Given the description of an element on the screen output the (x, y) to click on. 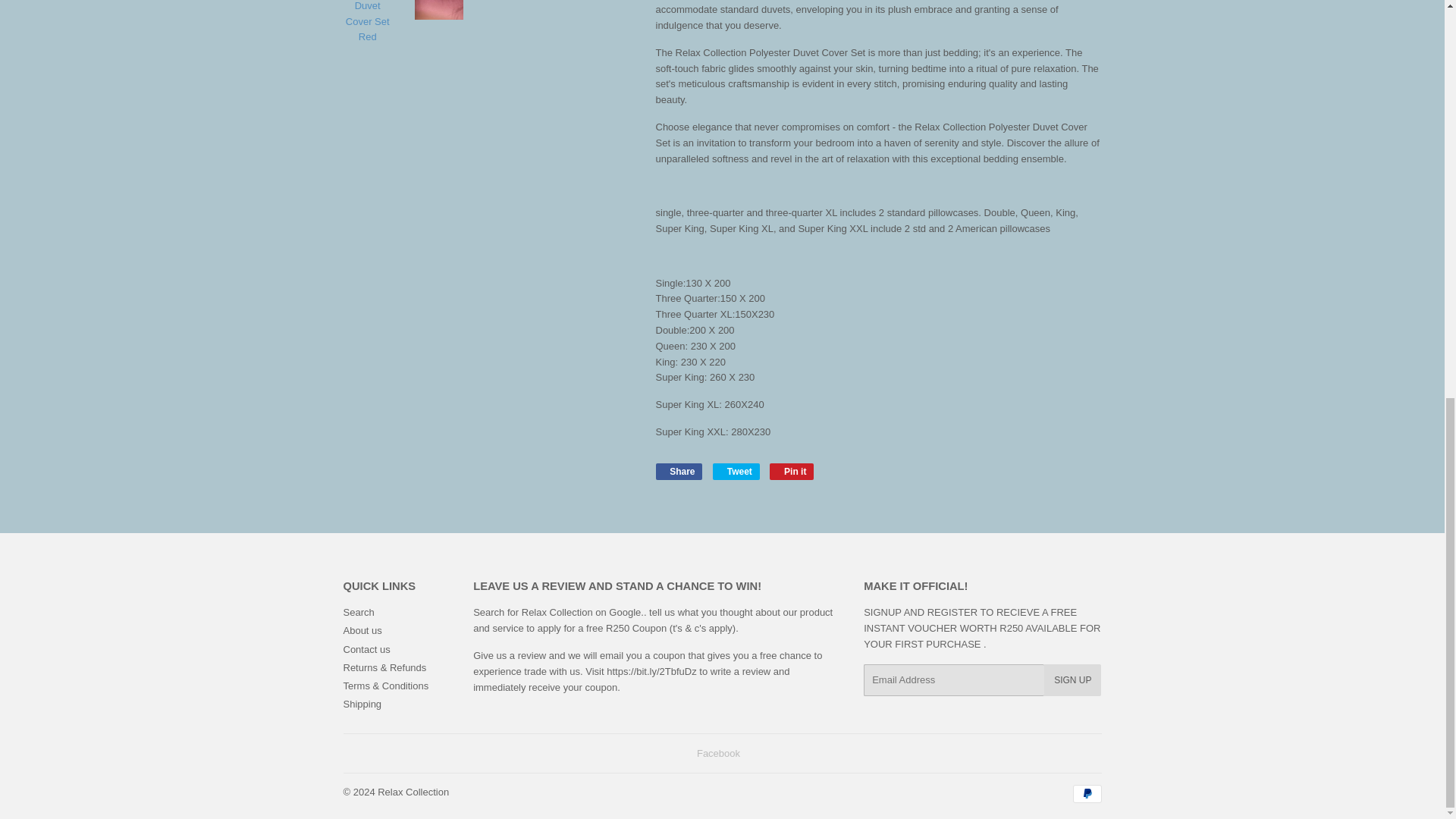
Pin on Pinterest (791, 471)
Share on Facebook (678, 471)
PayPal (1085, 793)
Tweet on Twitter (736, 471)
Relax Collection on Facebook (718, 753)
